Given the description of an element on the screen output the (x, y) to click on. 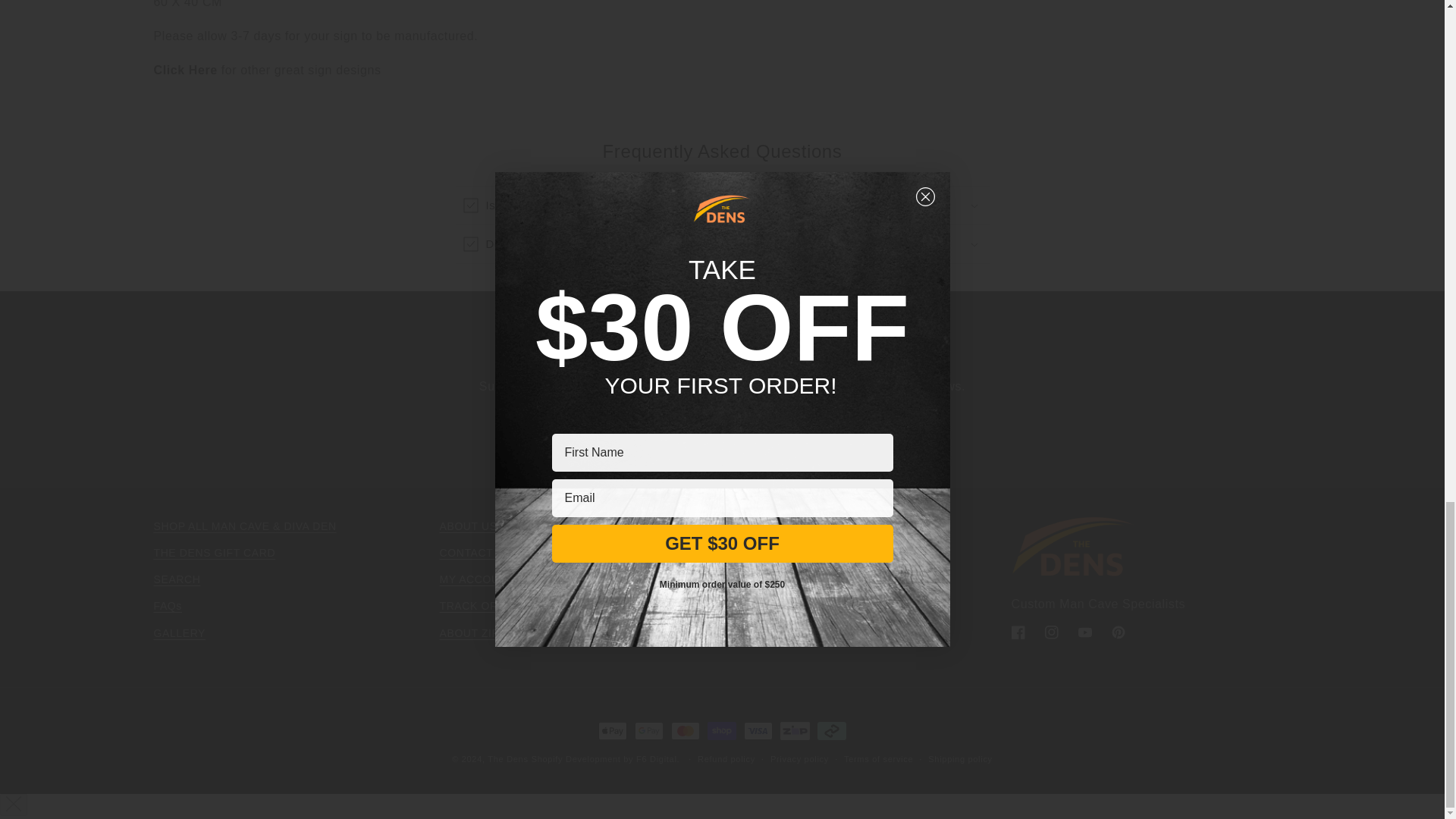
Sign Collection (184, 69)
